Given the description of an element on the screen output the (x, y) to click on. 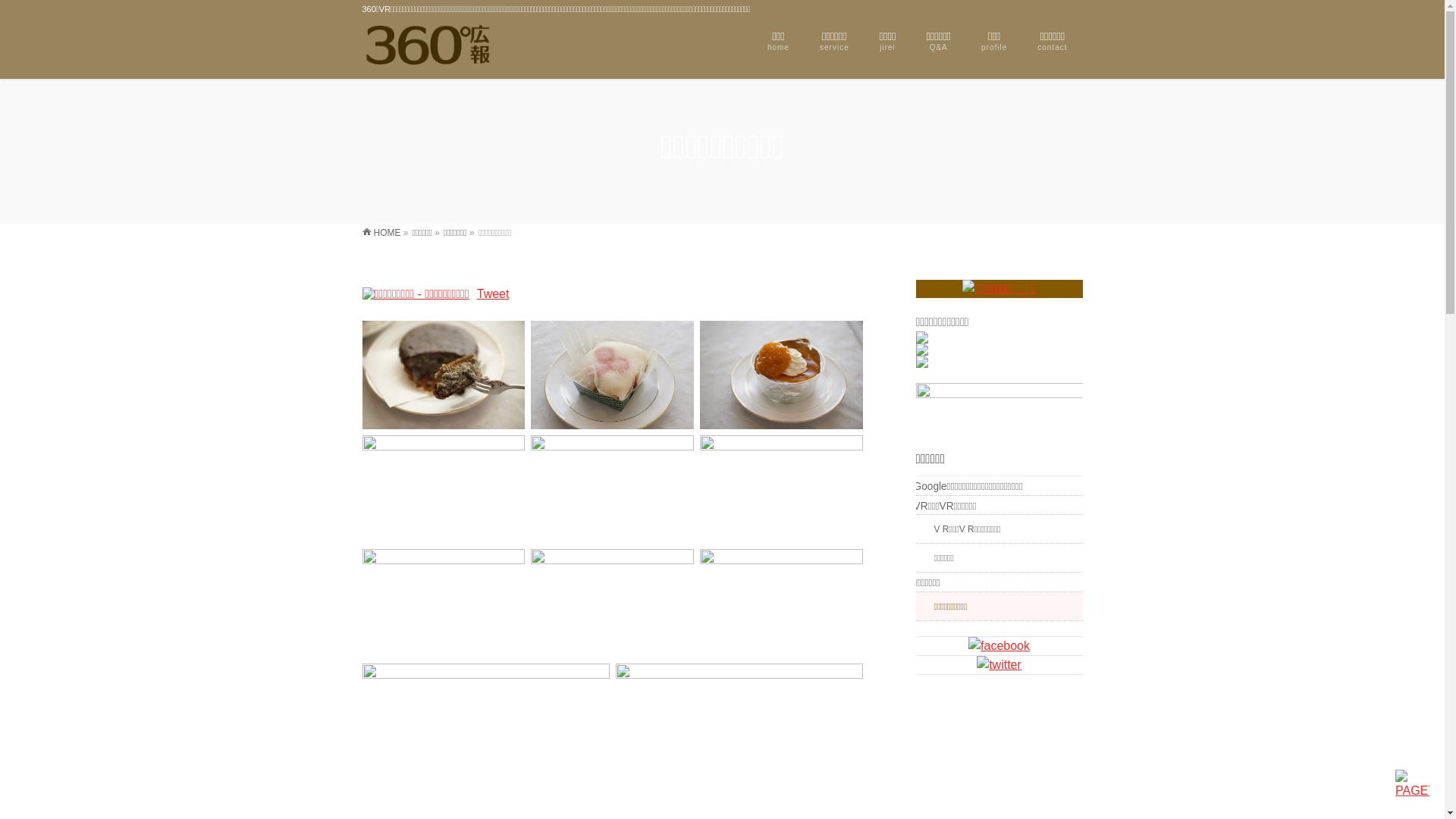
HOME Element type: text (381, 232)
Tweet Element type: text (492, 293)
